Given the description of an element on the screen output the (x, y) to click on. 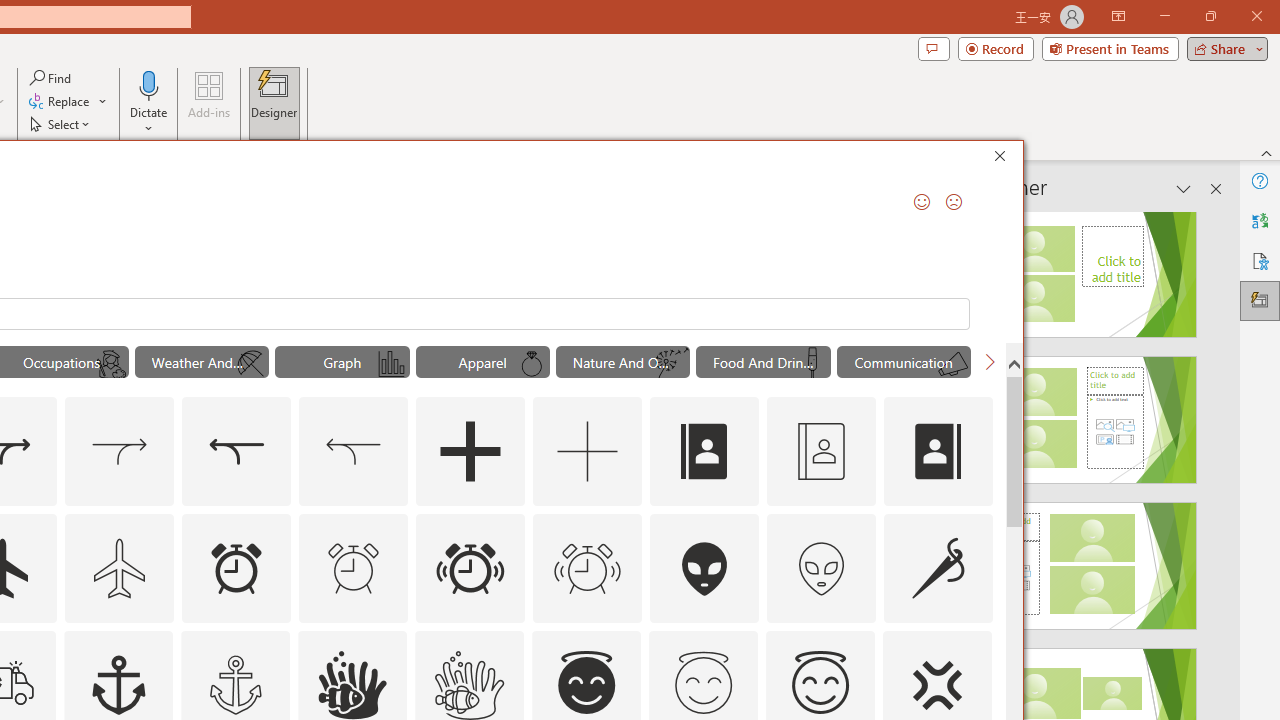
AutomationID: Icons_Airplane_M (120, 568)
AutomationID: Icons_AlterationsTailoring (938, 568)
AutomationID: Icons_AddressBook_RTL (938, 452)
AutomationID: _134_Angel_Face_A (586, 682)
AutomationID: Icons_ArtistFemale_M (111, 364)
AutomationID: Icons_Acquisition_LTR_M (120, 452)
